Given the description of an element on the screen output the (x, y) to click on. 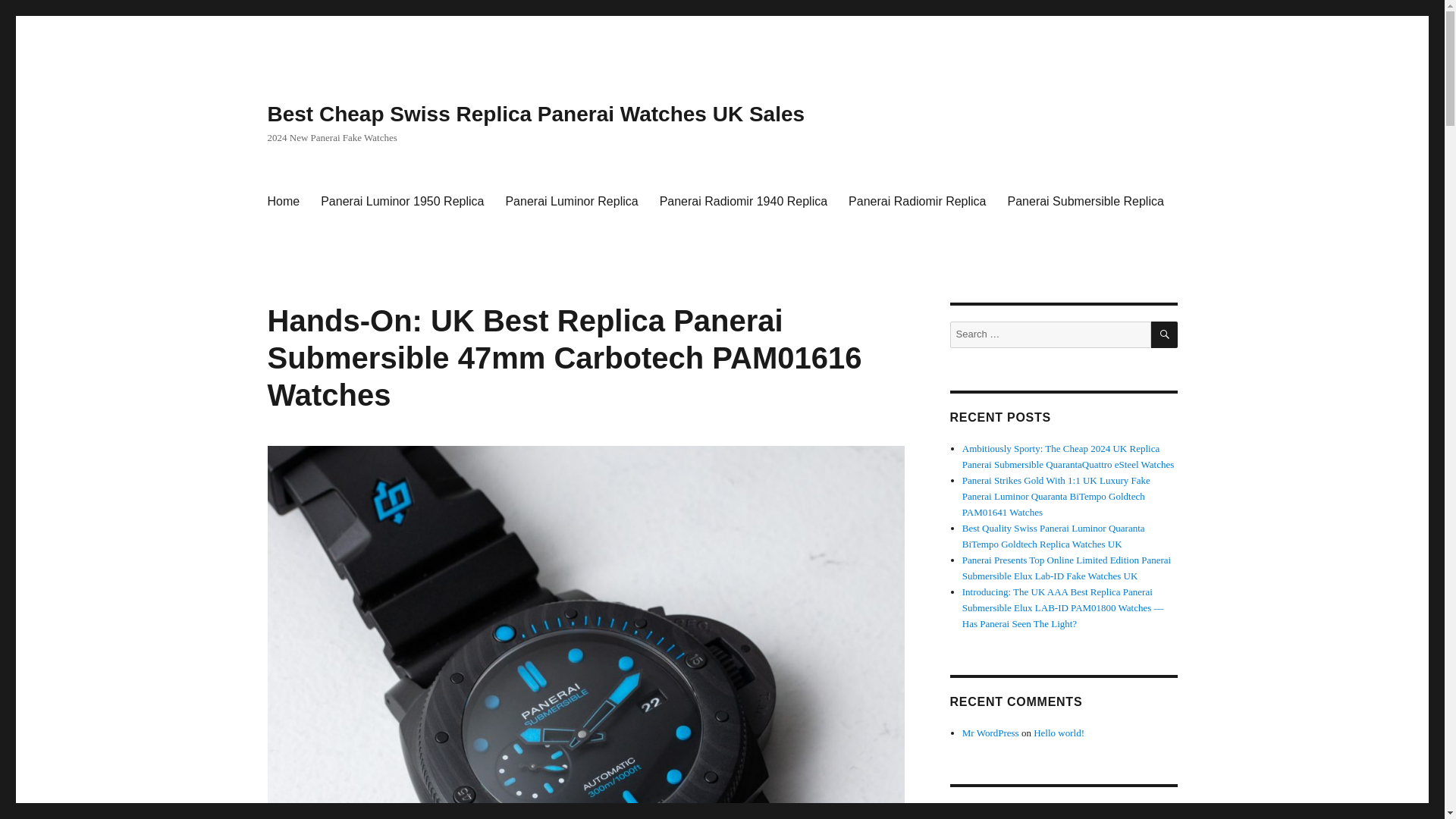
Panerai Radiomir 1940 Replica (743, 201)
Mr WordPress (990, 732)
Panerai Luminor 1950 Replica (402, 201)
Panerai Submersible Replica (1085, 201)
Hello world! (1058, 732)
Panerai Radiomir Replica (916, 201)
SEARCH (1164, 334)
Best Cheap Swiss Replica Panerai Watches UK Sales (535, 114)
Panerai Luminor Replica (571, 201)
Home (283, 201)
